Given the description of an element on the screen output the (x, y) to click on. 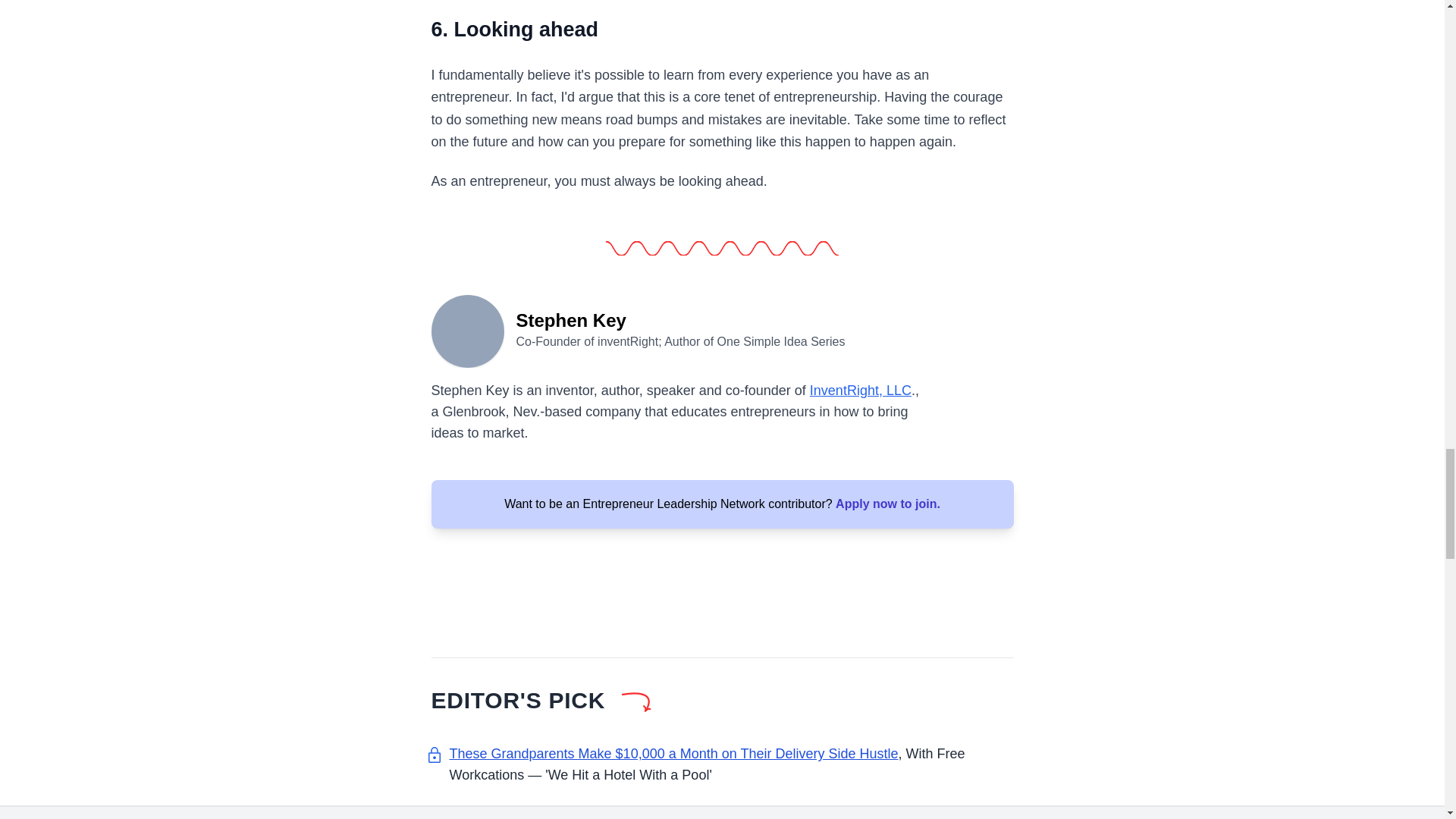
Stephen Key (466, 329)
